Given the description of an element on the screen output the (x, y) to click on. 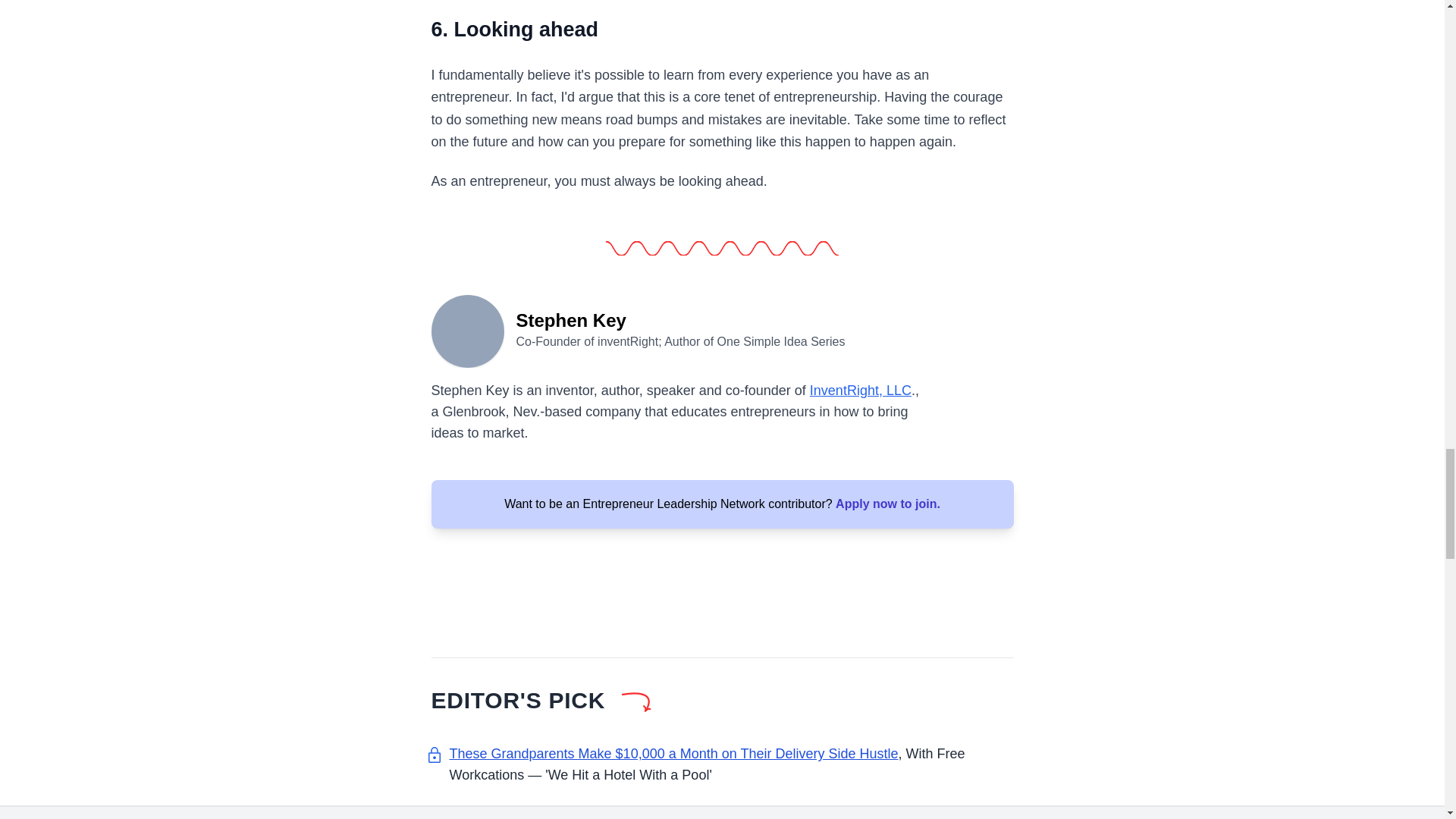
Stephen Key (466, 329)
